Given the description of an element on the screen output the (x, y) to click on. 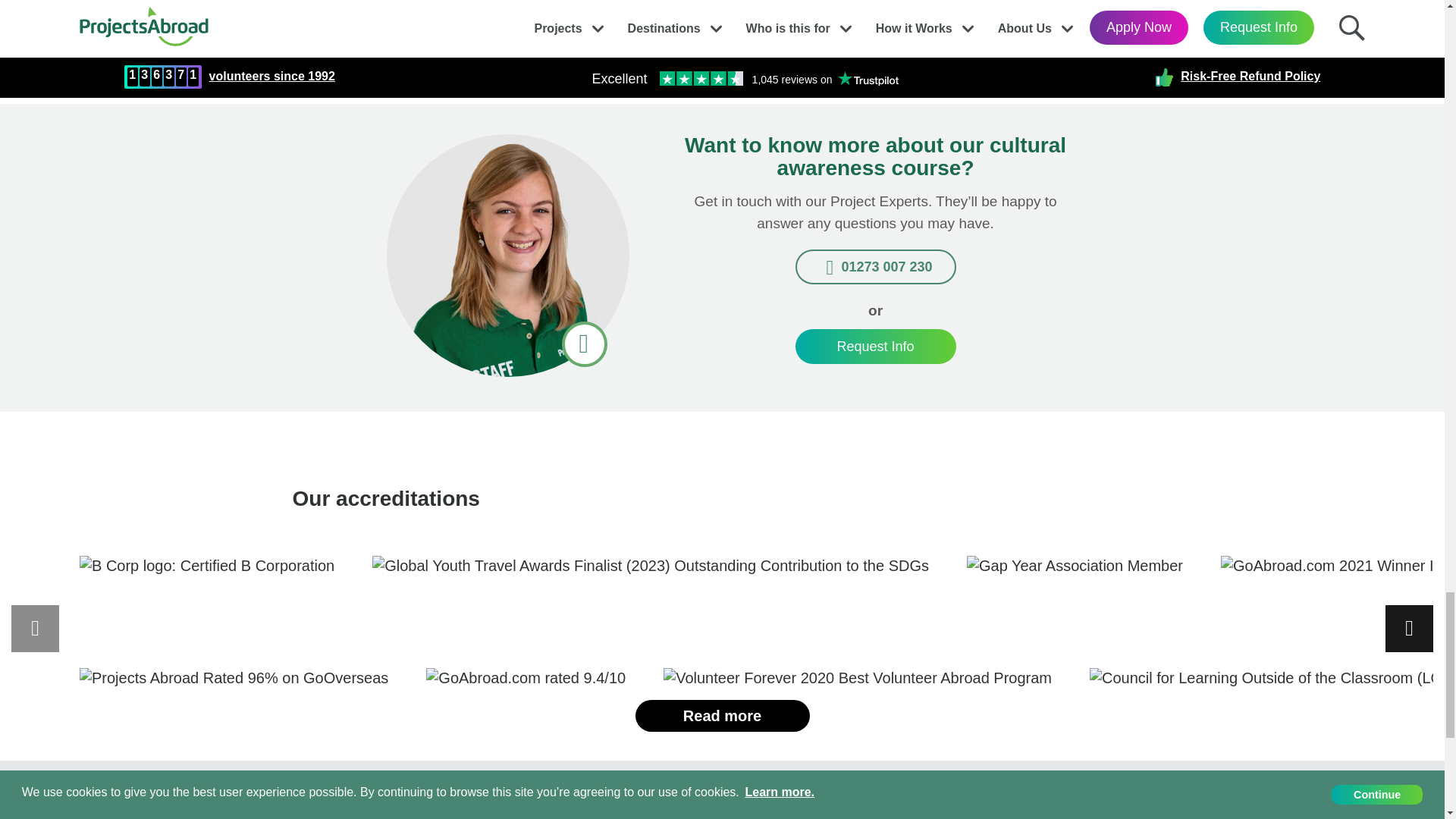
Staff Name (507, 255)
